Given the description of an element on the screen output the (x, y) to click on. 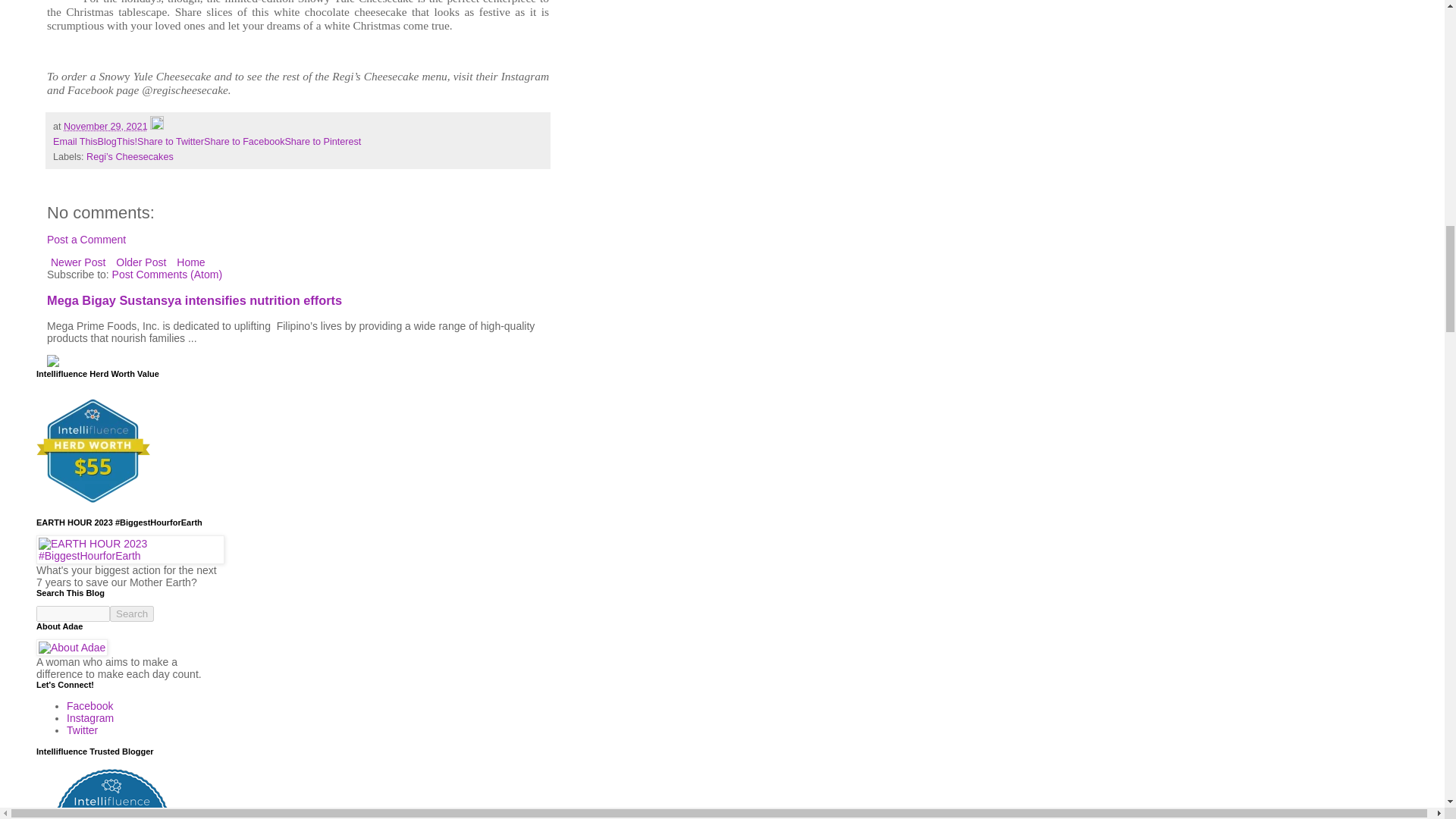
Post a Comment (85, 239)
permanent link (106, 126)
BlogThis! (117, 141)
Email This (74, 141)
Mega Bigay Sustansya intensifies nutrition efforts (194, 300)
Edit Post (156, 126)
Search (132, 613)
search (73, 613)
Older Post (141, 261)
Share to Twitter (169, 141)
Instagram (89, 717)
Twitter (81, 729)
Newer Post (77, 261)
search (132, 613)
Email This (74, 141)
